Given the description of an element on the screen output the (x, y) to click on. 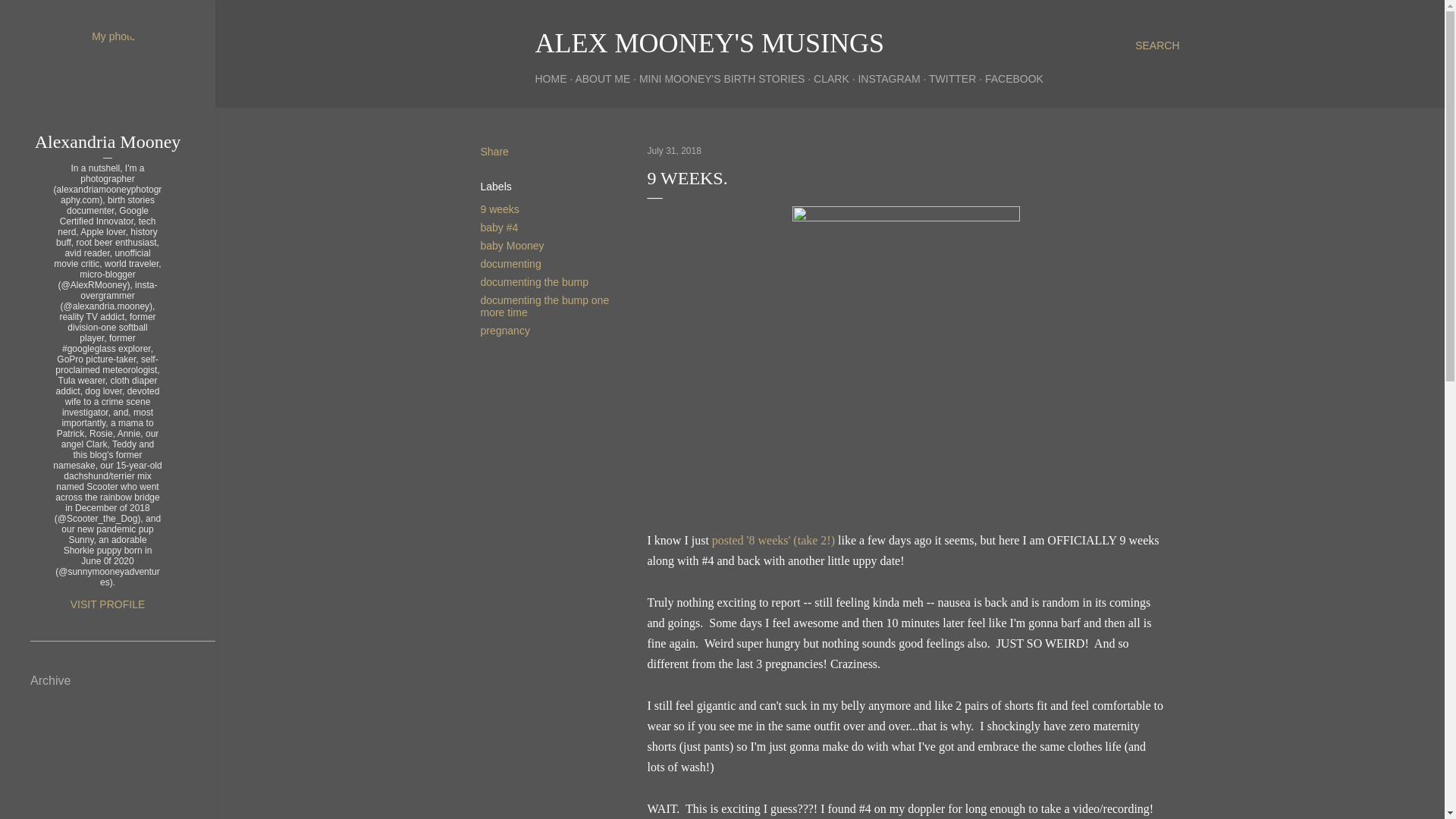
MINI MOONEY'S BIRTH STORIES (722, 78)
permanent link (674, 150)
documenting (510, 263)
documenting the bump (534, 282)
baby Mooney (512, 245)
ALEX MOONEY'S MUSINGS (710, 42)
SEARCH (1157, 45)
INSTAGRAM (888, 78)
pregnancy (504, 330)
HOME (551, 78)
